Given the description of an element on the screen output the (x, y) to click on. 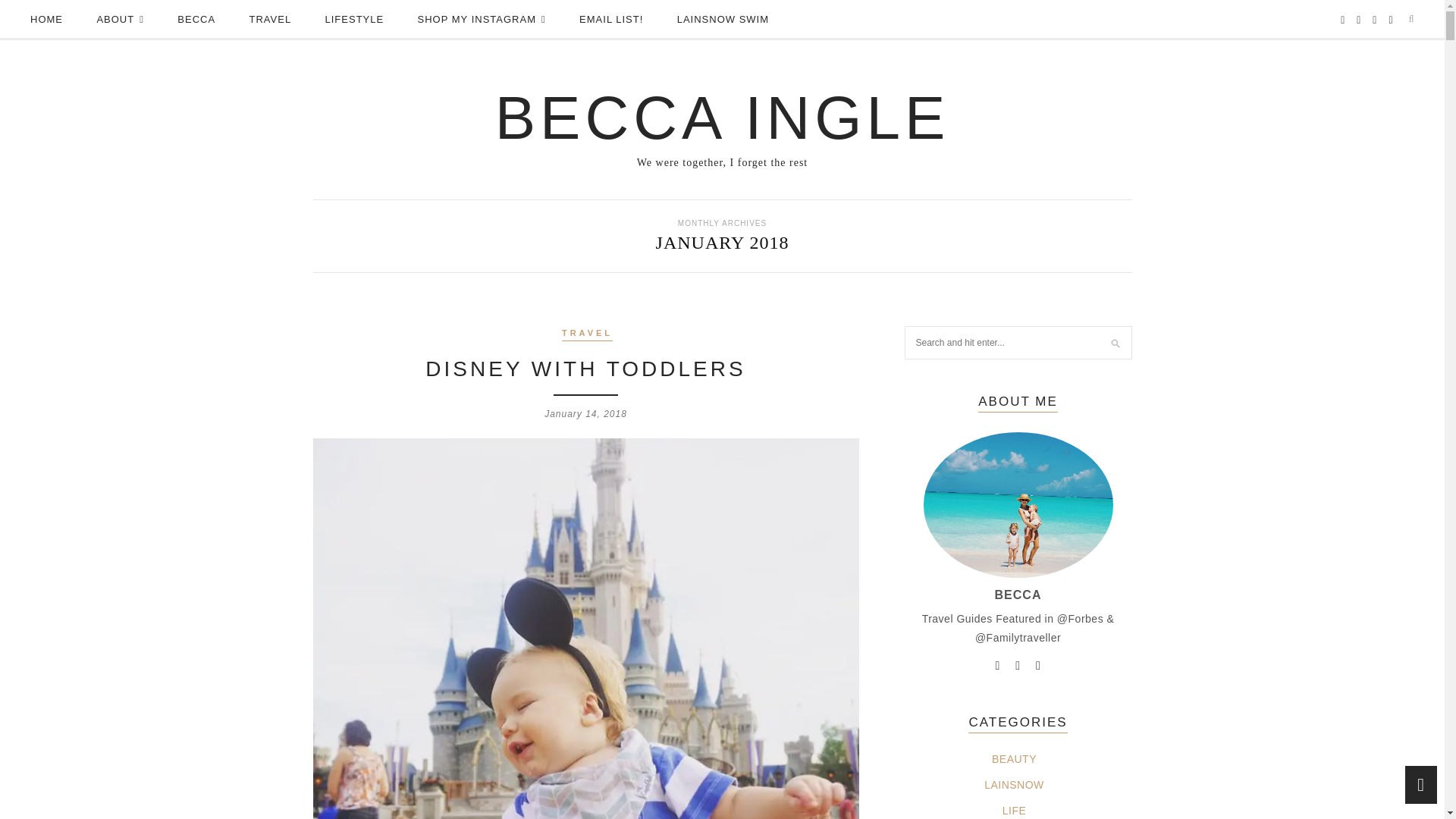
BECCA (196, 19)
EMAIL LIST! (611, 19)
LAINSNOW SWIM (722, 19)
TRAVEL (270, 19)
ABOUT (120, 19)
LIFESTYLE (354, 19)
SHOP MY INSTAGRAM (481, 19)
TRAVEL (587, 333)
DISNEY WITH TODDLERS (585, 368)
